Given the description of an element on the screen output the (x, y) to click on. 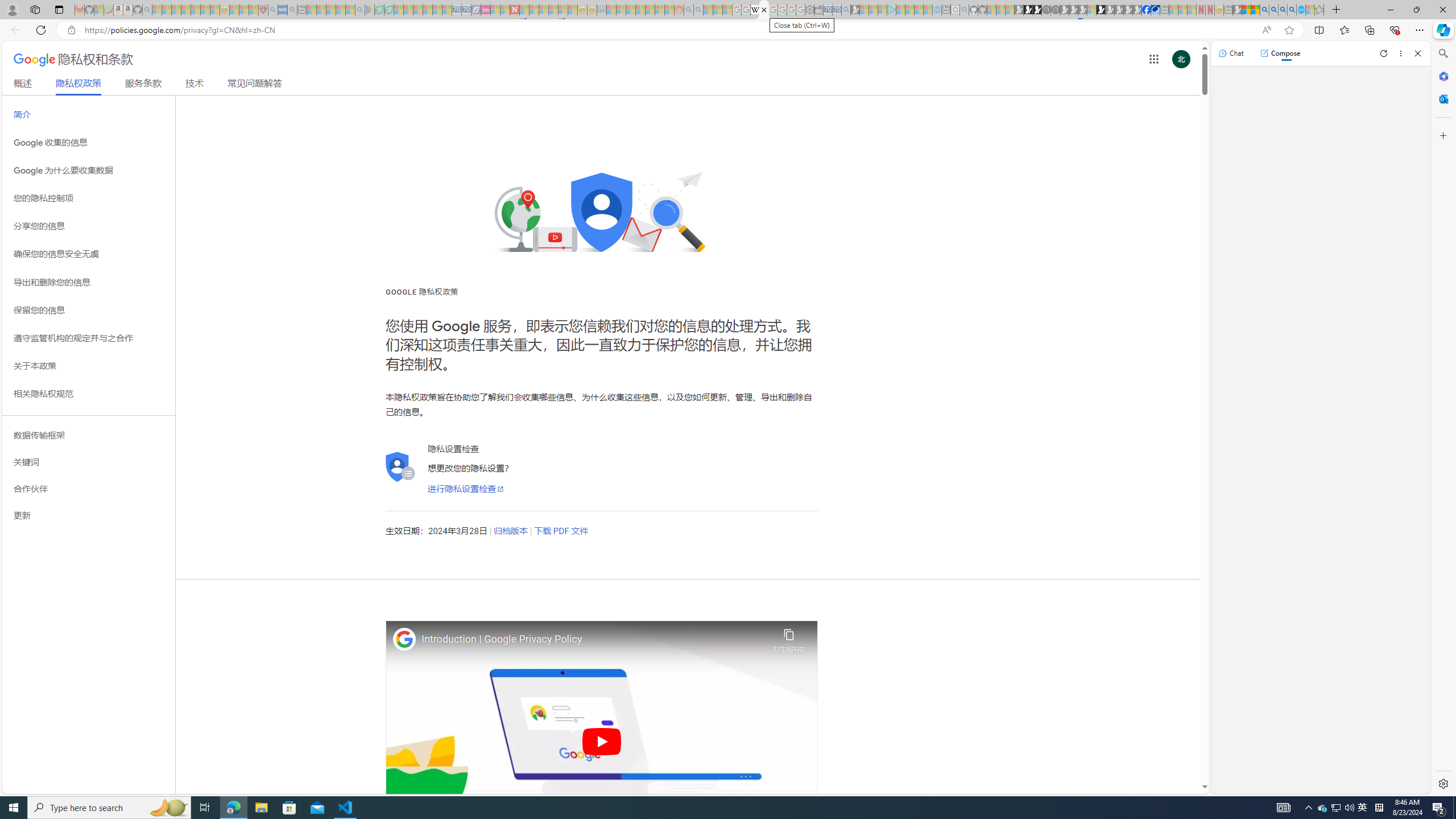
Sign in to your account - Sleeping (1090, 9)
Target page - Wikipedia (754, 9)
Compose (1279, 52)
MSNBC - MSN - Sleeping (611, 9)
Class: gb_E (1153, 59)
